Given the description of an element on the screen output the (x, y) to click on. 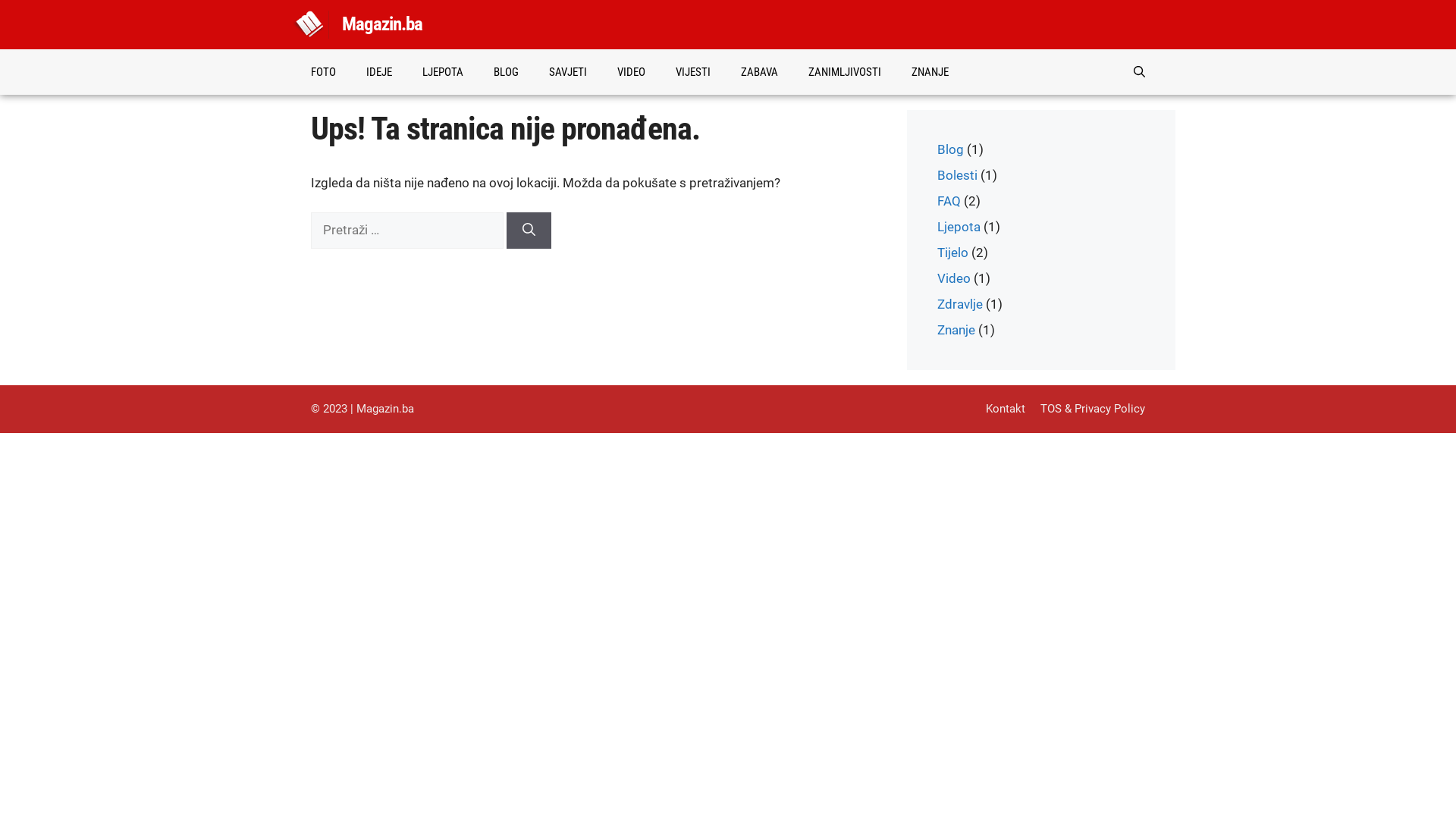
FAQ Element type: text (948, 200)
Ljepota Element type: text (958, 226)
Video Element type: text (953, 277)
Magazin.ba Element type: text (382, 23)
Zdravlje Element type: text (959, 303)
ZNANJE Element type: text (929, 71)
VIDEO Element type: text (631, 71)
VIJESTI Element type: text (692, 71)
Blog Element type: text (950, 148)
ZANIMLJIVOSTI Element type: text (844, 71)
Znanje Element type: text (956, 329)
FOTO Element type: text (323, 71)
BLOG Element type: text (505, 71)
IDEJE Element type: text (379, 71)
Kontakt Element type: text (1005, 408)
TOS & Privacy Policy Element type: text (1092, 408)
Bolesti Element type: text (957, 174)
Tijelo Element type: text (952, 252)
SAVJETI Element type: text (567, 71)
LJEPOTA Element type: text (442, 71)
ZABAVA Element type: text (759, 71)
